Given the description of an element on the screen output the (x, y) to click on. 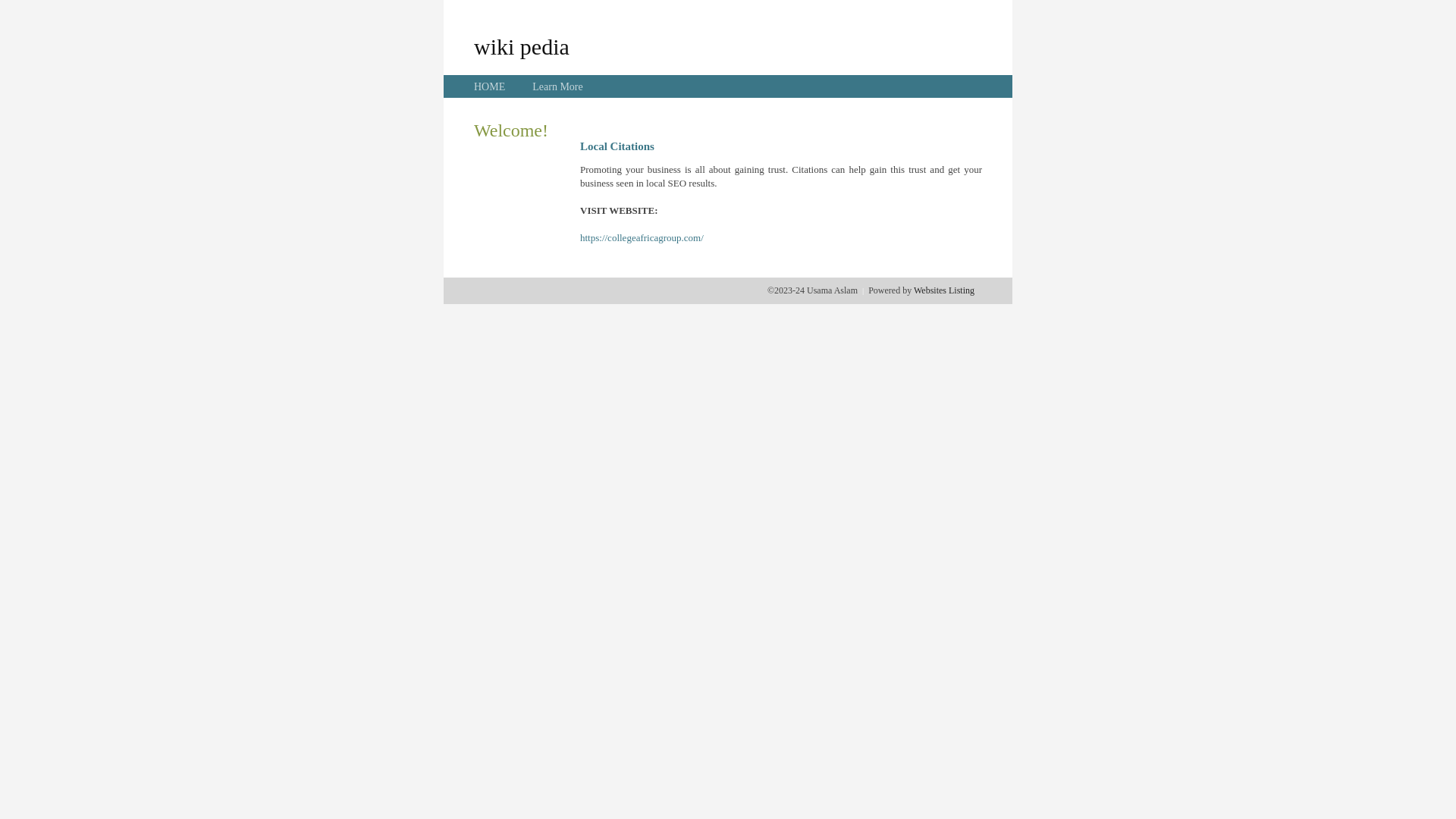
https://collegeafricagroup.com/ Element type: text (641, 237)
wiki pedia Element type: text (521, 46)
Websites Listing Element type: text (943, 290)
Learn More Element type: text (557, 86)
HOME Element type: text (489, 86)
